Given the description of an element on the screen output the (x, y) to click on. 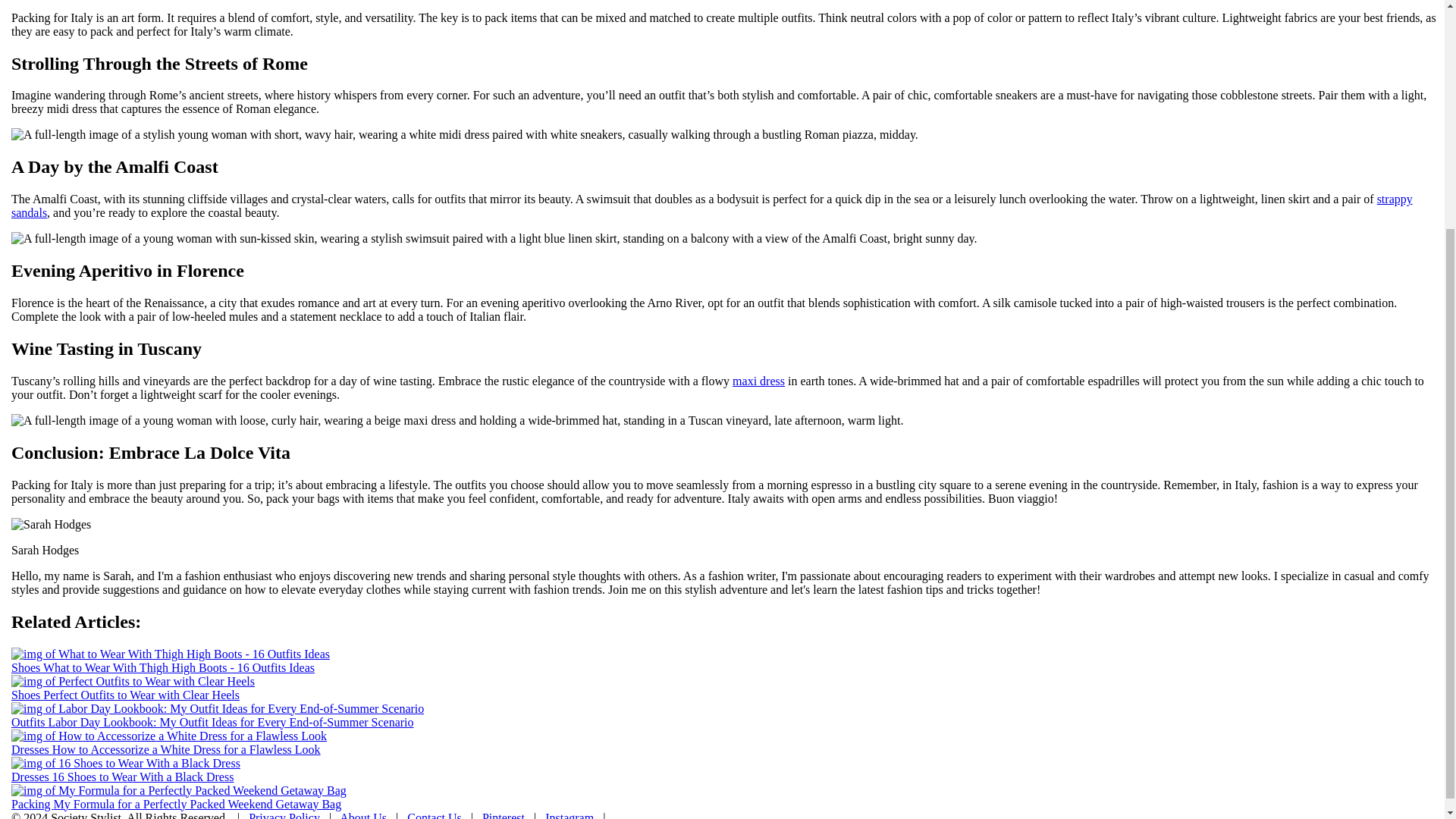
Outfits (29, 721)
Dresses (31, 775)
Shoes (27, 666)
How to Accessorize a White Dress for a Flawless Look (186, 748)
Shoes (27, 694)
Dresses (31, 748)
What to Wear With Thigh High Boots - 16 Outfits Ideas (178, 666)
Packing (32, 802)
Perfect Outfits to Wear with Clear Heels (141, 694)
maxi dress (758, 380)
16 Shoes to Wear With a Black Dress (143, 775)
My Formula for a Perfectly Packed Weekend Getaway Bag (197, 802)
strappy sandals (711, 205)
